Given the description of an element on the screen output the (x, y) to click on. 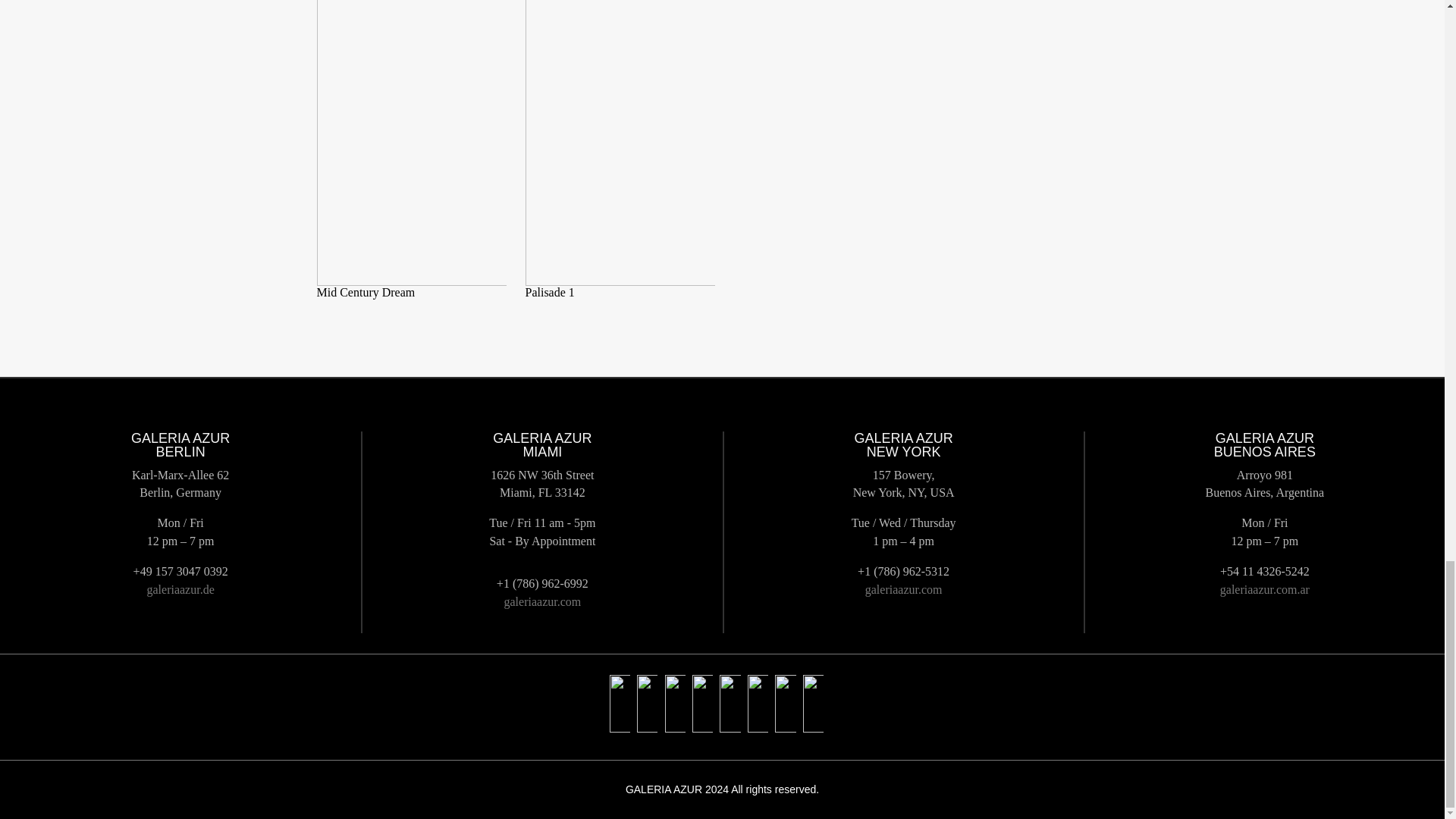
galeriaazur.de (180, 588)
Palisade 1 (548, 291)
Mid Century Dream (365, 291)
galeriaazur.com (903, 588)
galeriaazur.com (541, 600)
